Given the description of an element on the screen output the (x, y) to click on. 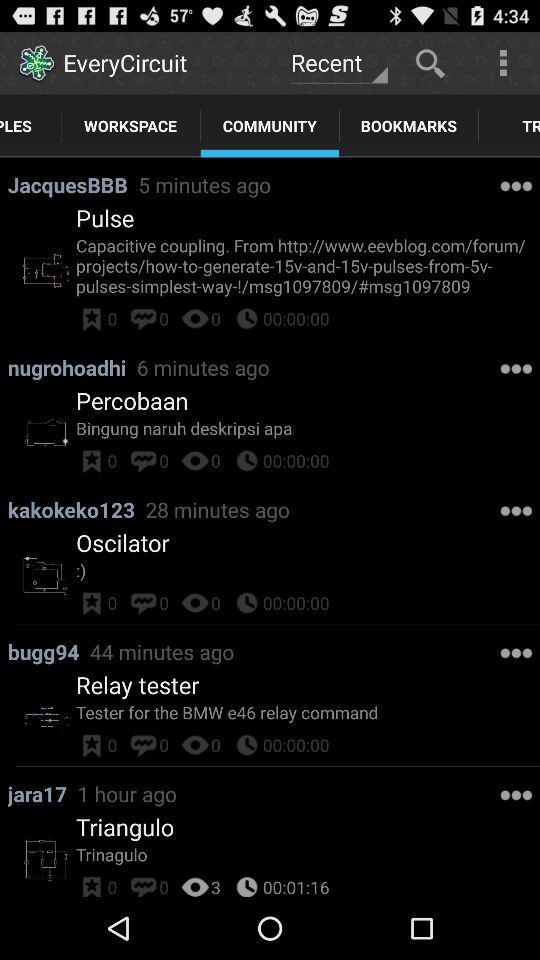
tap the item next to 5 minutes ago item (72, 184)
